Given the description of an element on the screen output the (x, y) to click on. 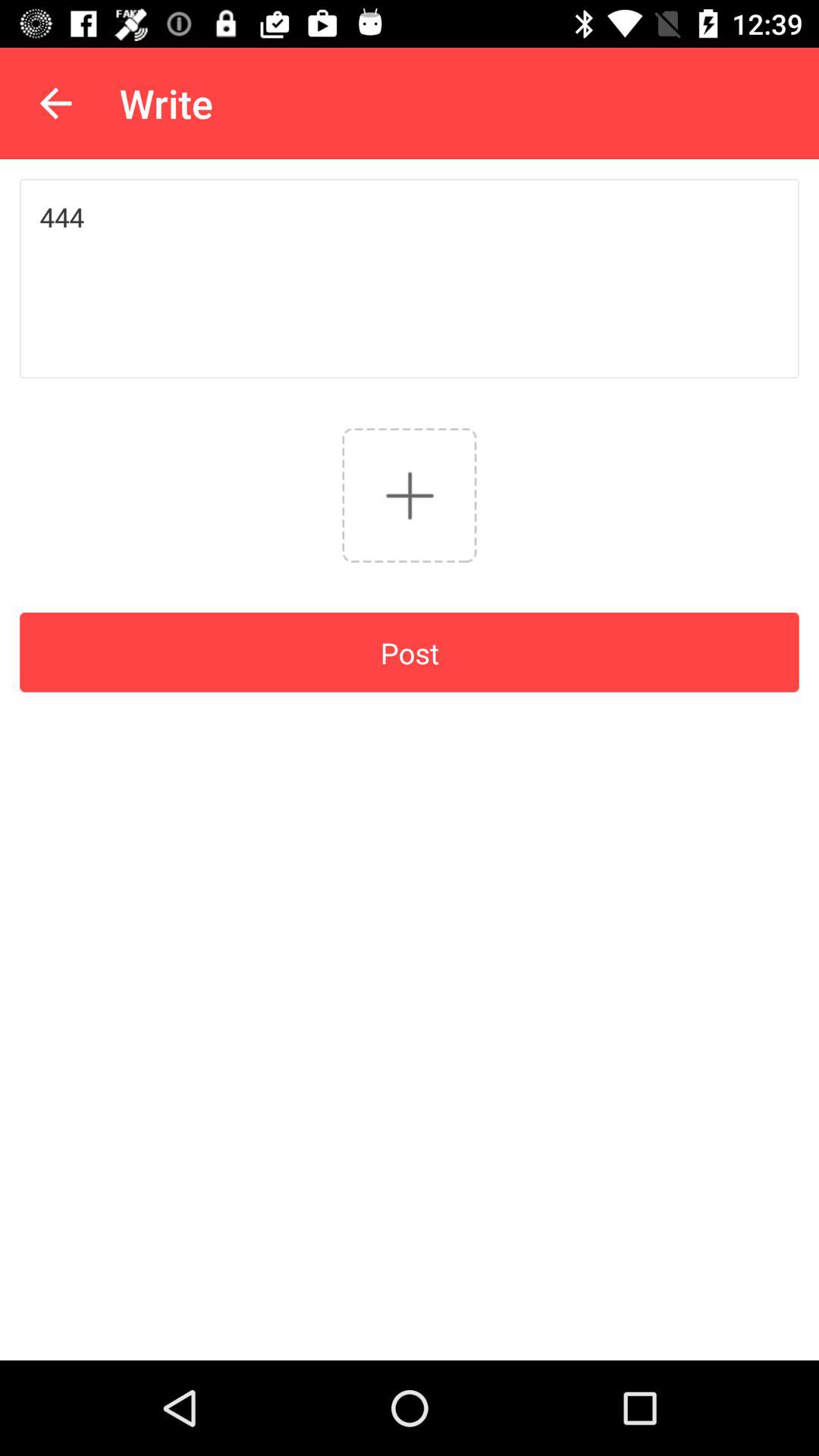
press the post item (409, 652)
